Given the description of an element on the screen output the (x, y) to click on. 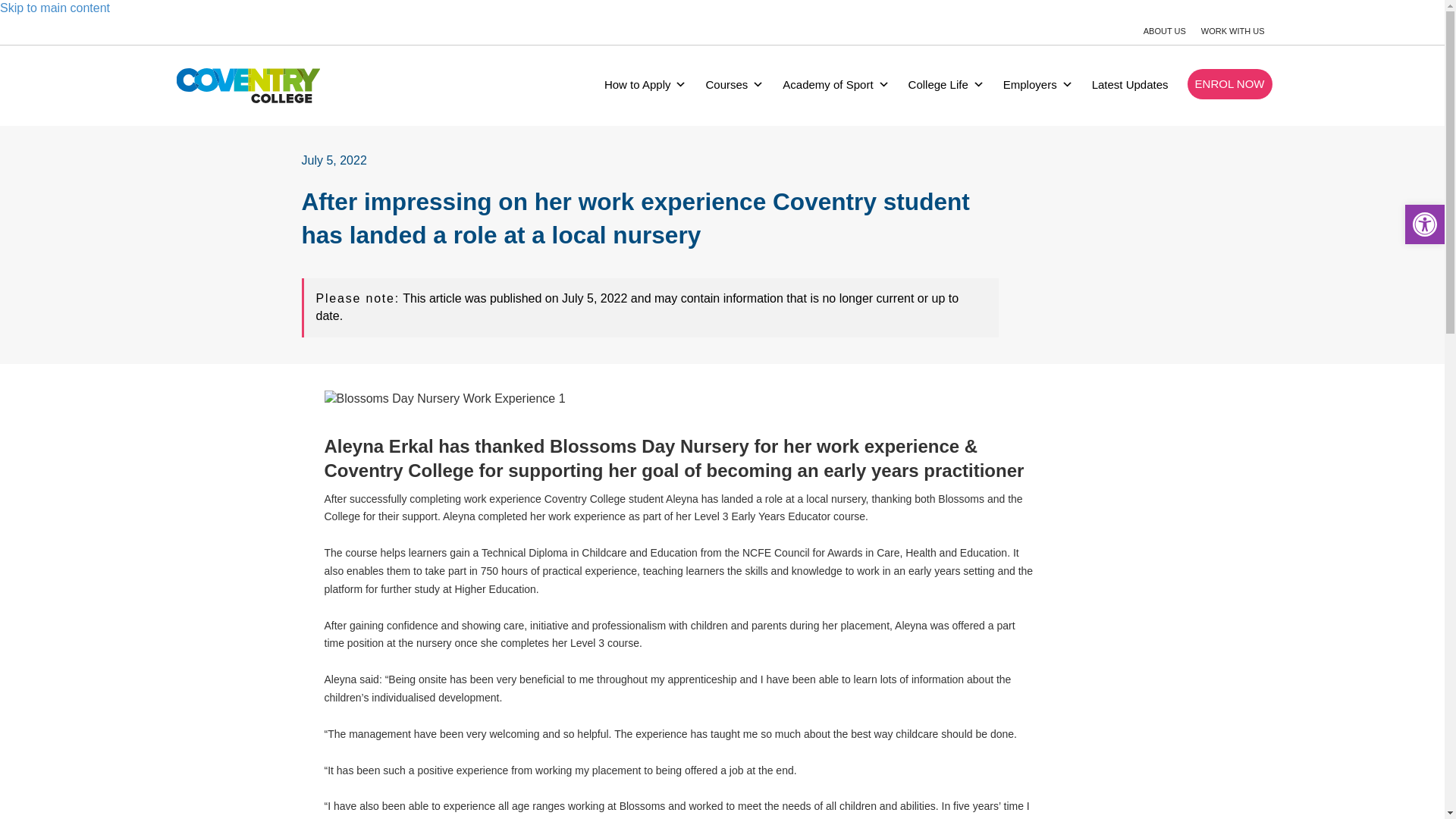
Accessibility (1424, 224)
Go to Coventry College homepage (248, 85)
Skip to main content (55, 7)
